Given the description of an element on the screen output the (x, y) to click on. 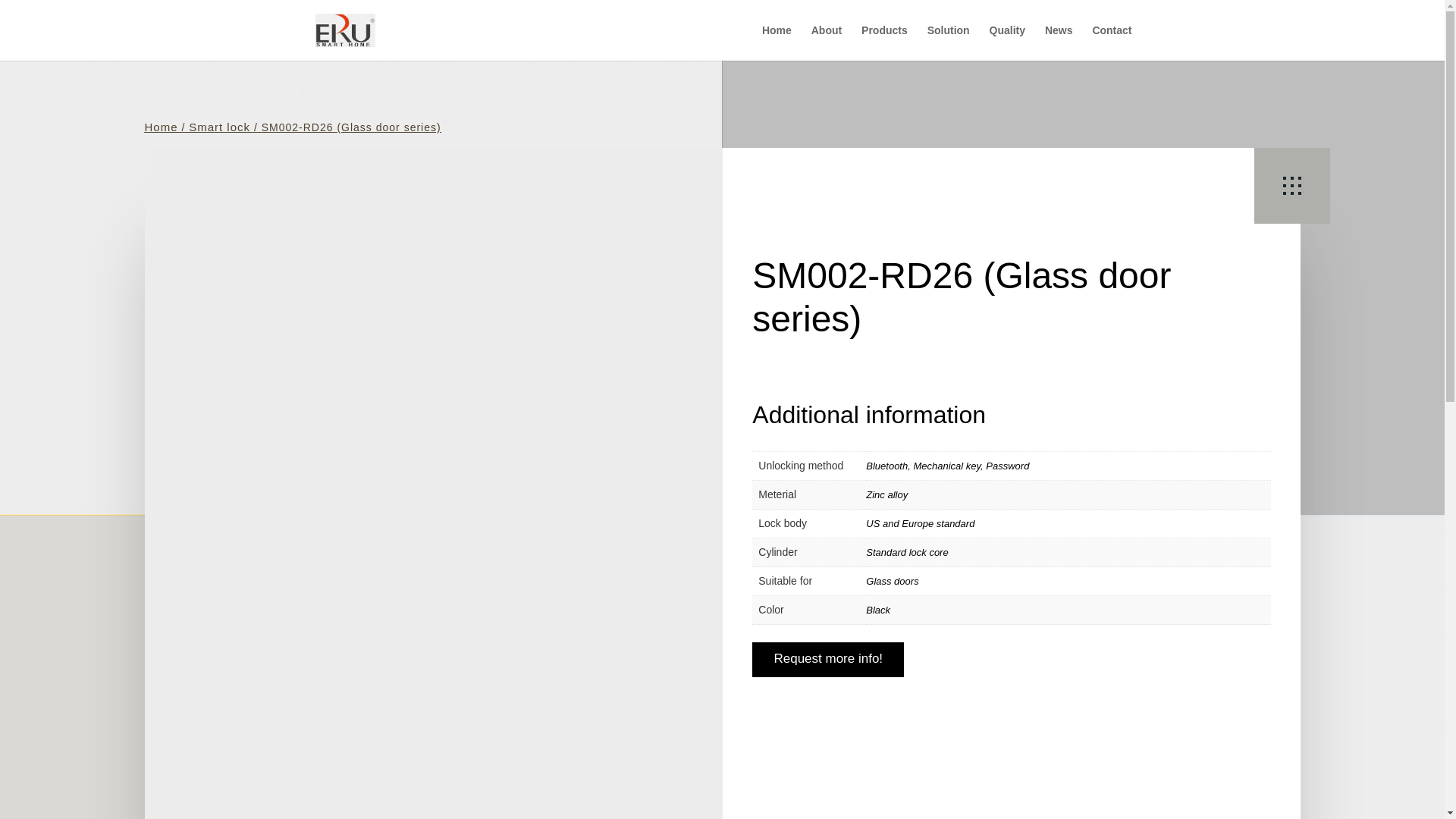
Smart lock (219, 126)
Home (160, 126)
Products (884, 42)
Quality (1007, 42)
Solution (948, 42)
Contact (1111, 42)
